Given the description of an element on the screen output the (x, y) to click on. 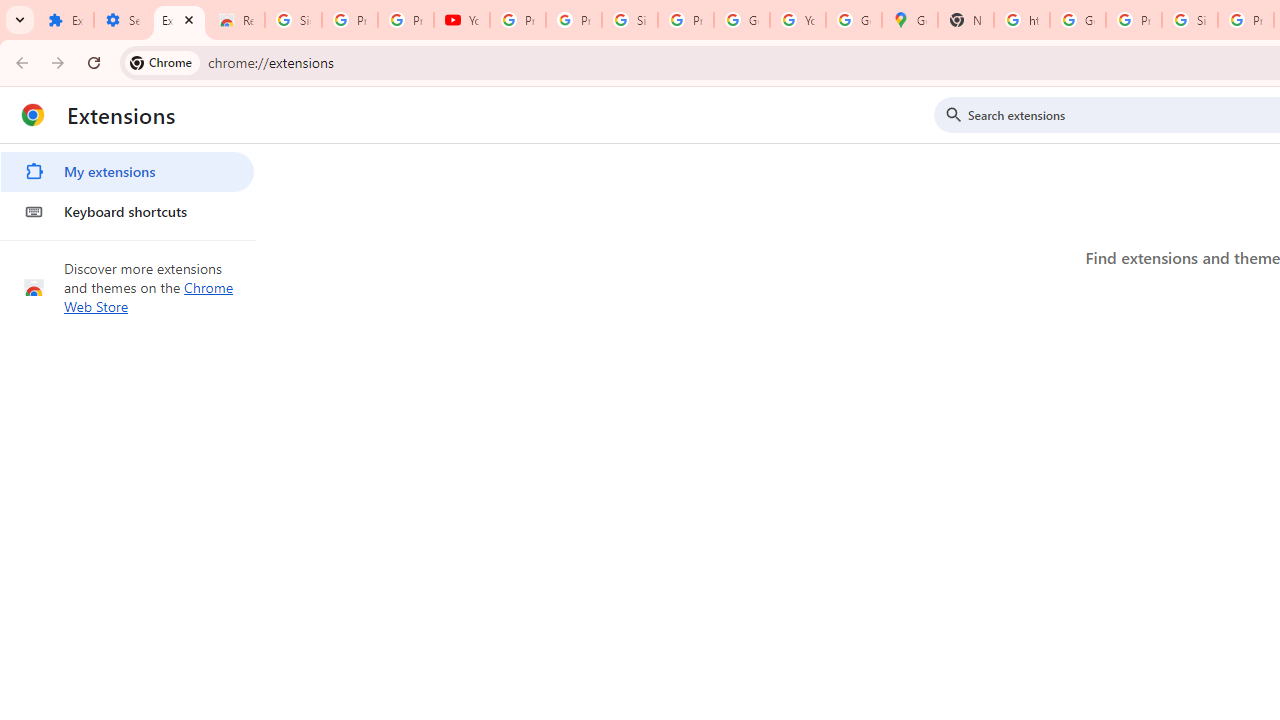
Settings (122, 20)
https://scholar.google.com/ (1021, 20)
Google Account (742, 20)
YouTube (797, 20)
Google Maps (909, 20)
Extensions (65, 20)
Extensions (179, 20)
